Given the description of an element on the screen output the (x, y) to click on. 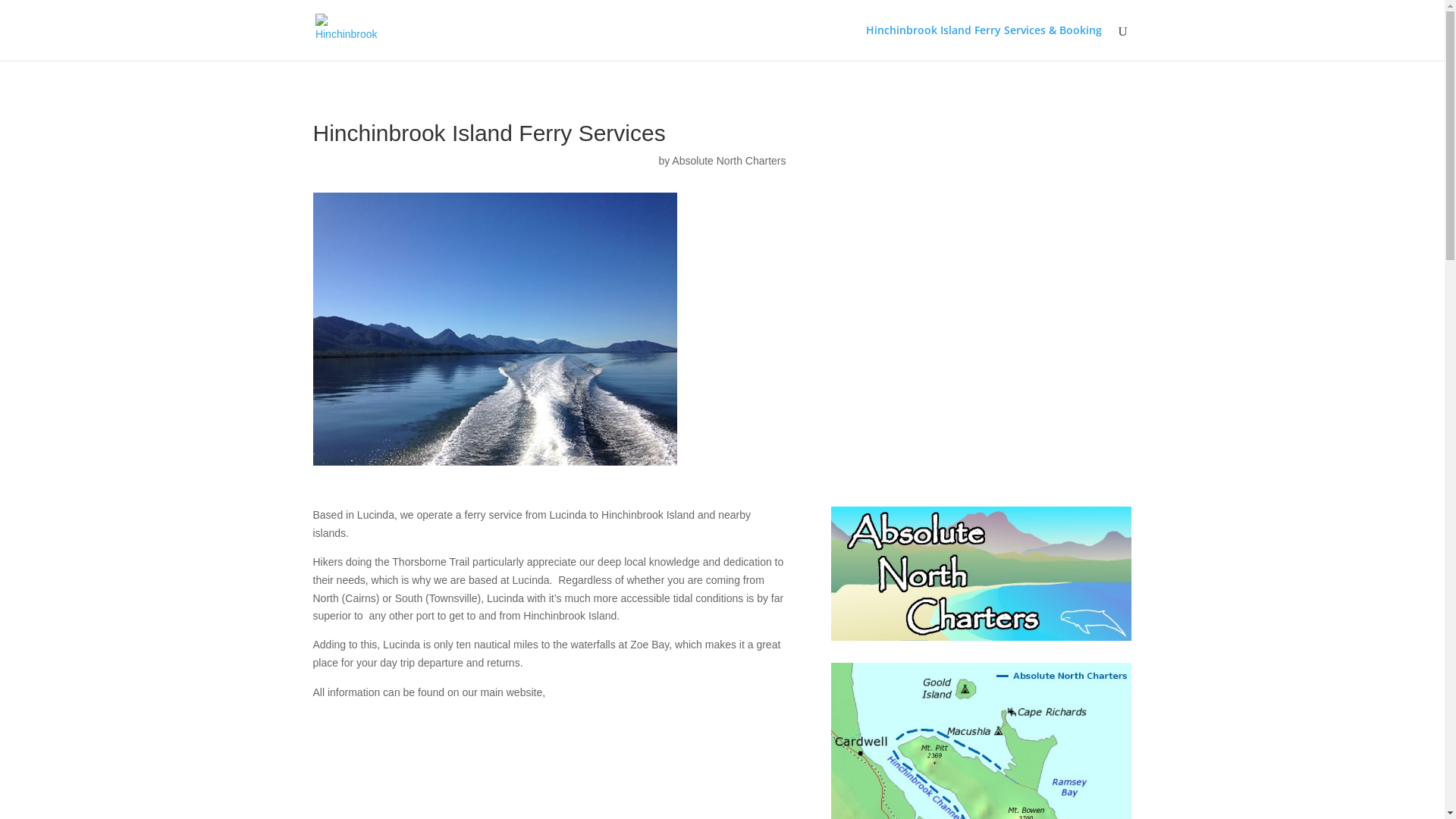
BOOK NOW Element type: text (548, 743)
Absolute North Charters. Element type: text (614, 692)
Absolute North Charters Logo for Hinchinbrook Island Ferries Element type: hover (981, 573)
Hinchinbrook Island Ferry Services & Booking Element type: text (983, 42)
11174928_824723444279246_75605289657536249_n Element type: hover (494, 328)
